Given the description of an element on the screen output the (x, y) to click on. 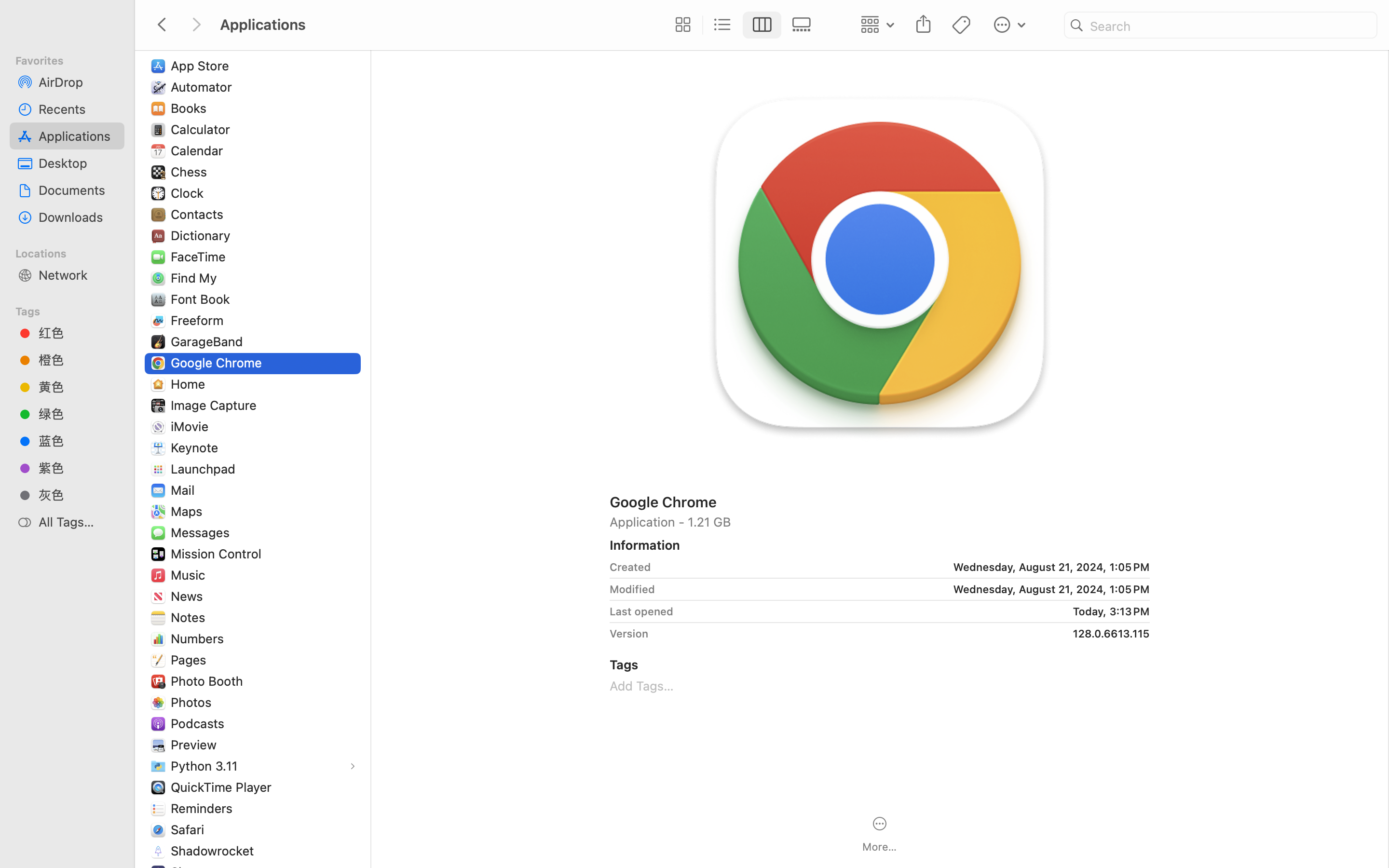
0 Element type: AXRadioButton (680, 24)
Automator Element type: AXTextField (203, 86)
<AXUIElement 0x13a660aa0> {pid=510} Element type: AXRadioGroup (741, 24)
Notes Element type: AXTextField (189, 616)
Shadowrocket Element type: AXTextField (214, 850)
